Given the description of an element on the screen output the (x, y) to click on. 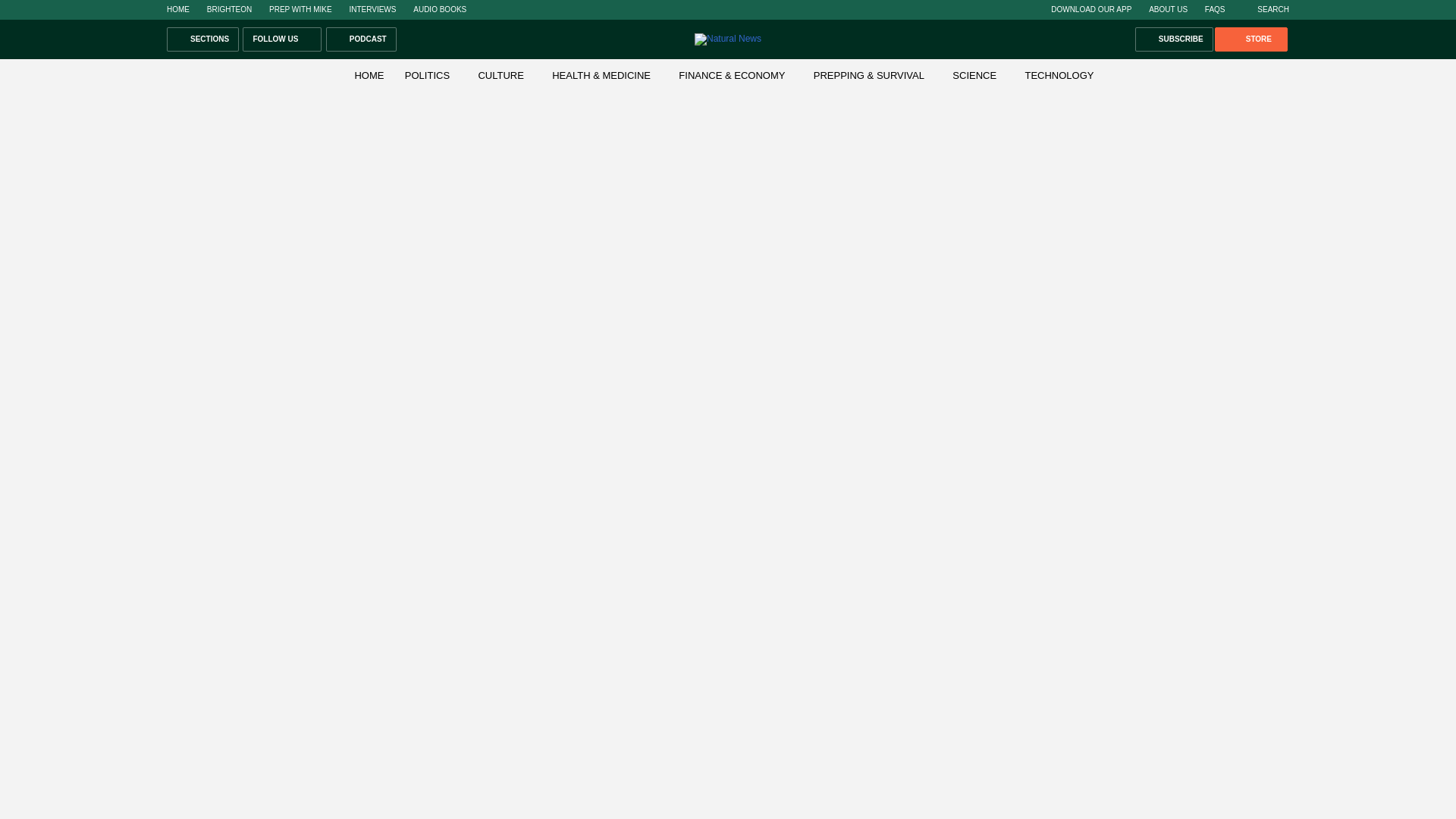
PREP WITH MIKE (300, 8)
HOME (178, 8)
AUDIO BOOKS (439, 8)
DOWNLOAD OUR APP (1091, 8)
PODCAST (361, 39)
FAQS (1215, 8)
BRIGHTEON (228, 8)
POLITICS (427, 75)
STORE (1250, 39)
SEARCH (1264, 8)
